Given the description of an element on the screen output the (x, y) to click on. 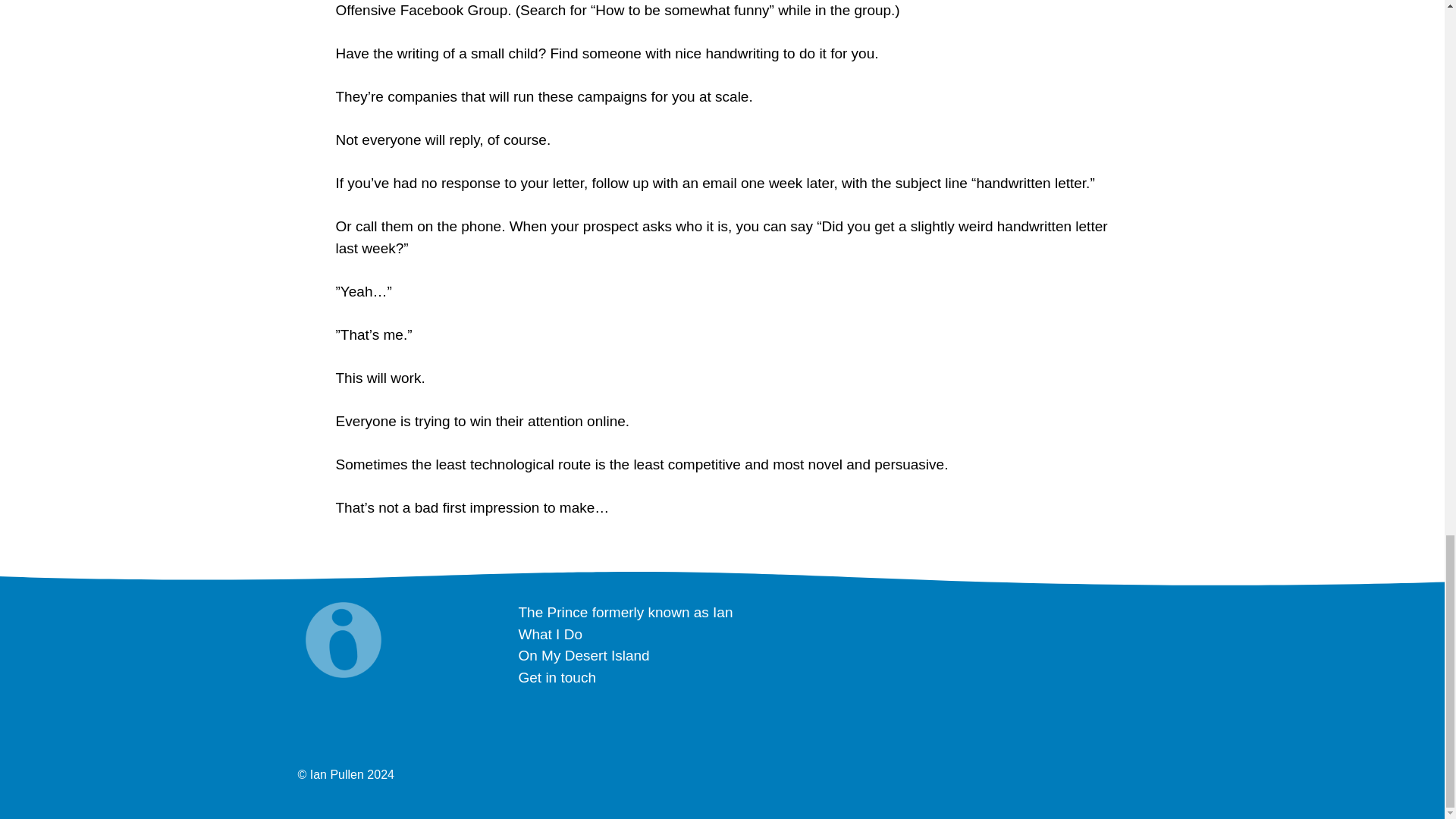
On My Desert Island (583, 655)
The Prince formerly known as Ian (625, 611)
What I Do (550, 634)
Get in touch (556, 677)
